Given the description of an element on the screen output the (x, y) to click on. 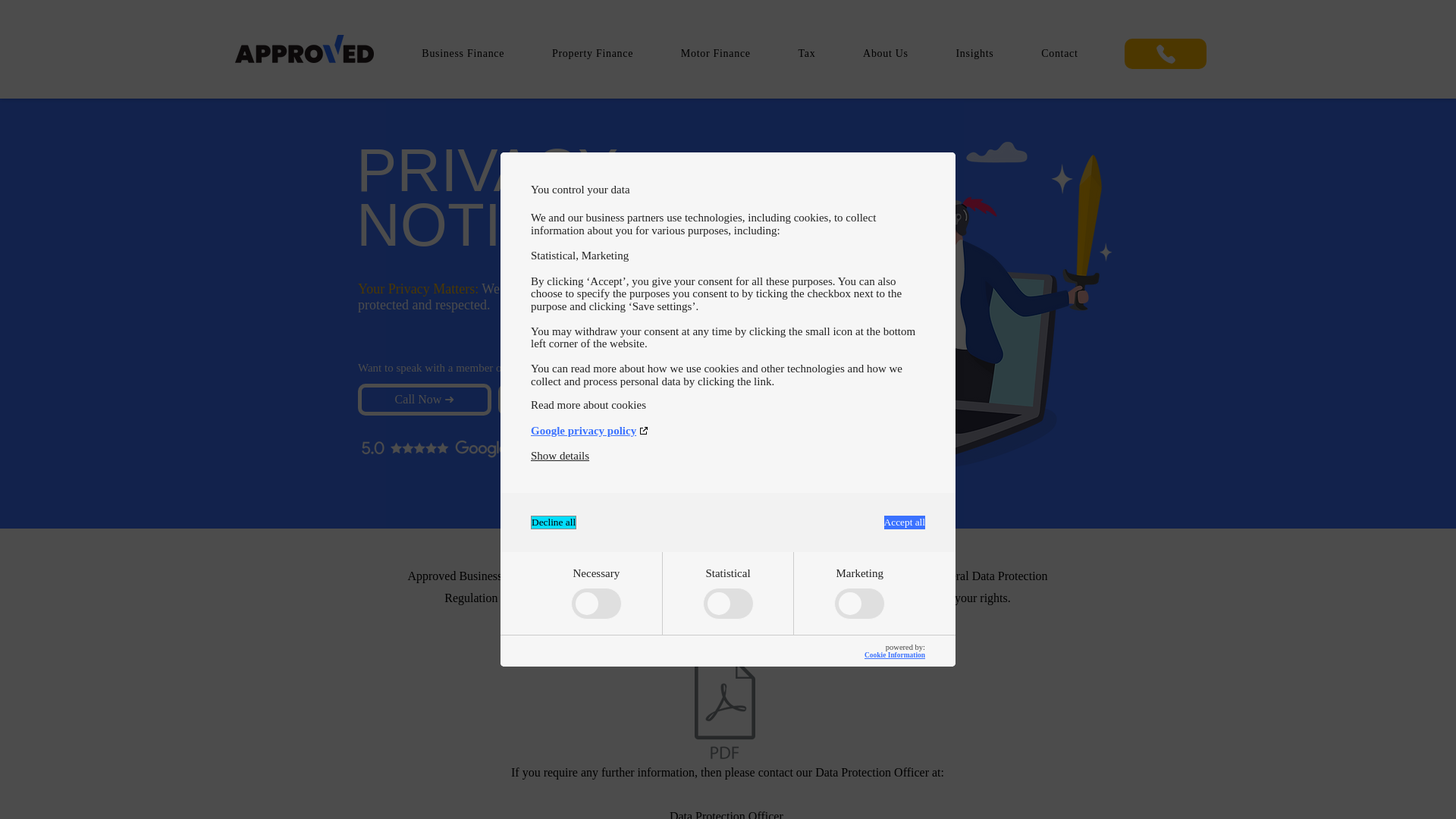
Accept all (903, 522)
Decline all (553, 522)
Read more about cookies (727, 404)
Show details (560, 455)
Google privacy policy (727, 431)
Cookie Information (894, 655)
